Given the description of an element on the screen output the (x, y) to click on. 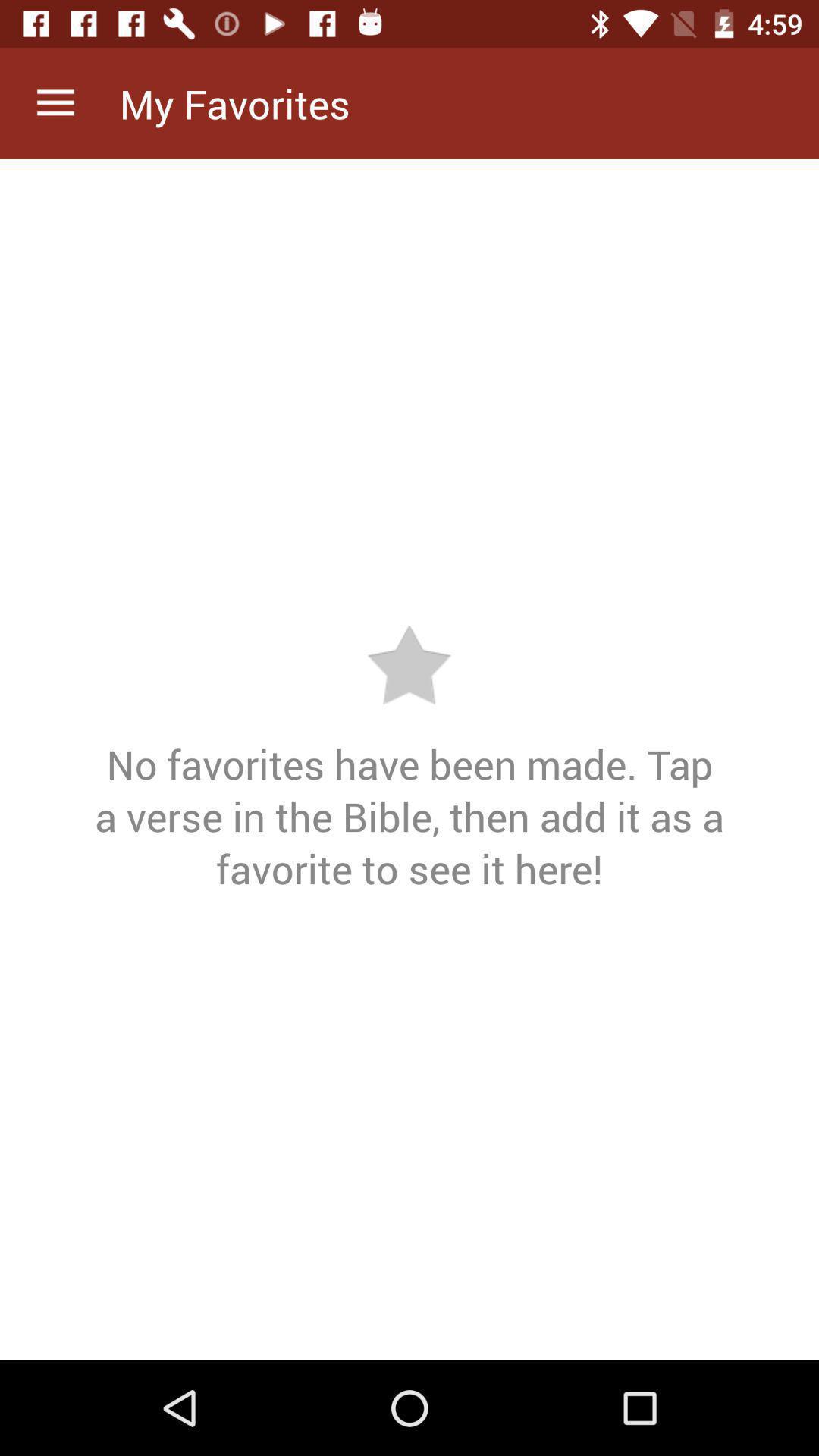
turn off item to the left of the my favorites item (55, 103)
